Given the description of an element on the screen output the (x, y) to click on. 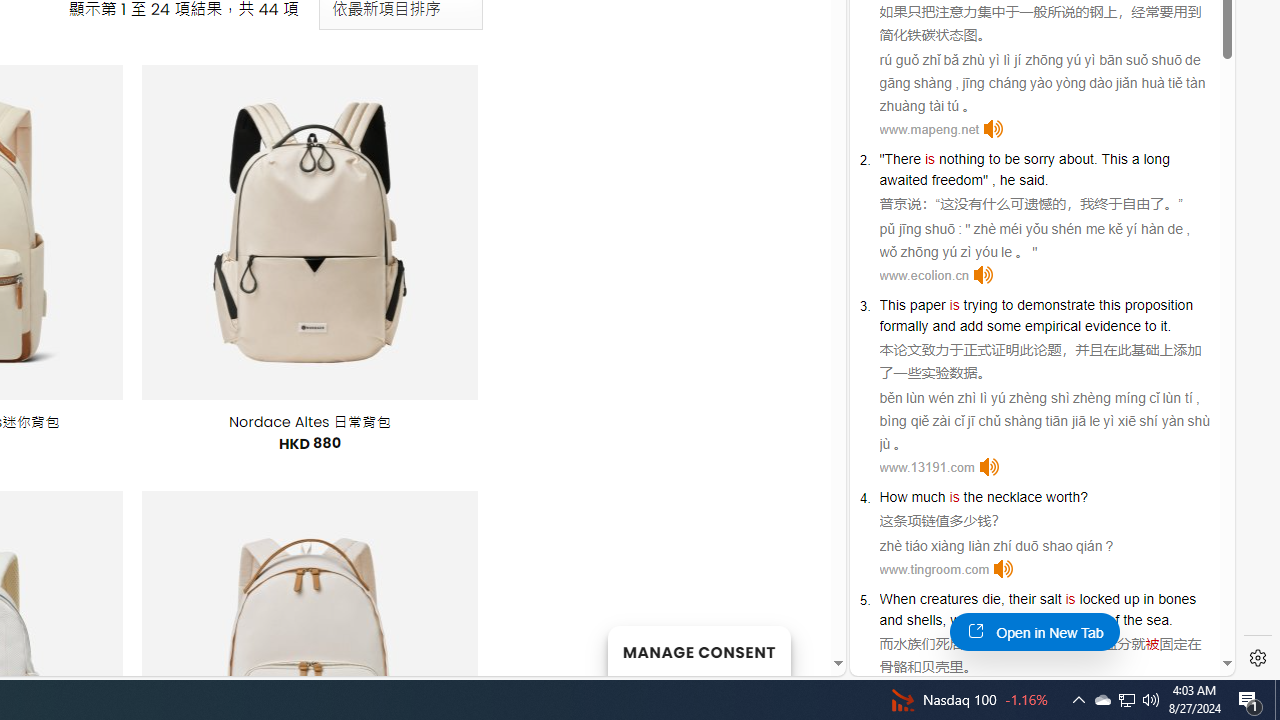
www.mapeng.net (929, 128)
some (1003, 326)
and (890, 619)
www.ecolion.cn (924, 274)
